Given the description of an element on the screen output the (x, y) to click on. 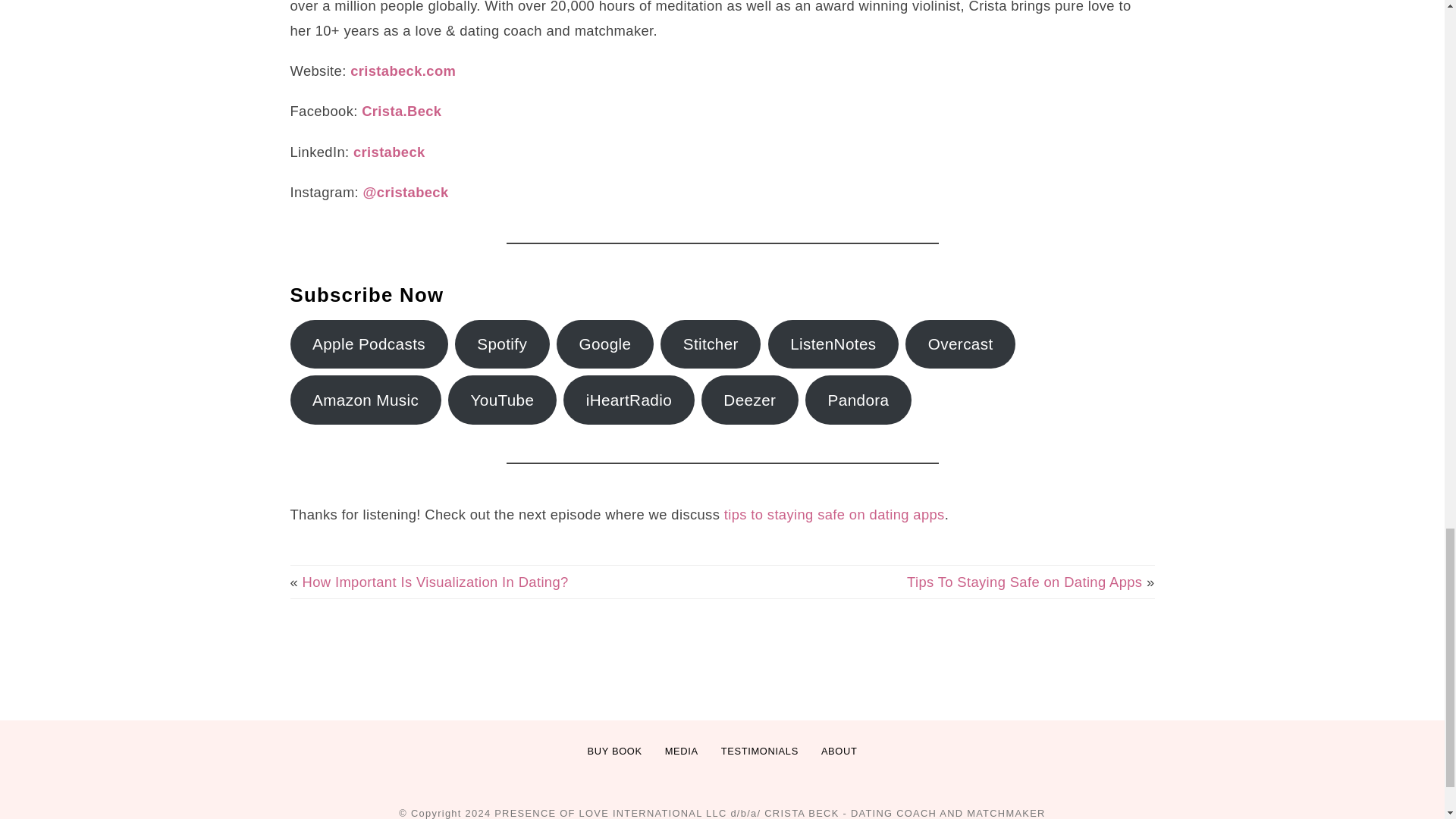
Google (604, 344)
Overcast (959, 344)
MEDIA (681, 751)
Stitcher (710, 344)
tips to staying safe on dating apps (831, 514)
TESTIMONIALS (759, 751)
YouTube (502, 400)
How Important Is Visualization In Dating? (435, 581)
ABOUT (839, 751)
Pandora (858, 400)
Amazon Music (365, 400)
Crista.Beck (401, 110)
Apple Podcasts (367, 344)
BUY BOOK (614, 751)
Spotify (502, 344)
